Given the description of an element on the screen output the (x, y) to click on. 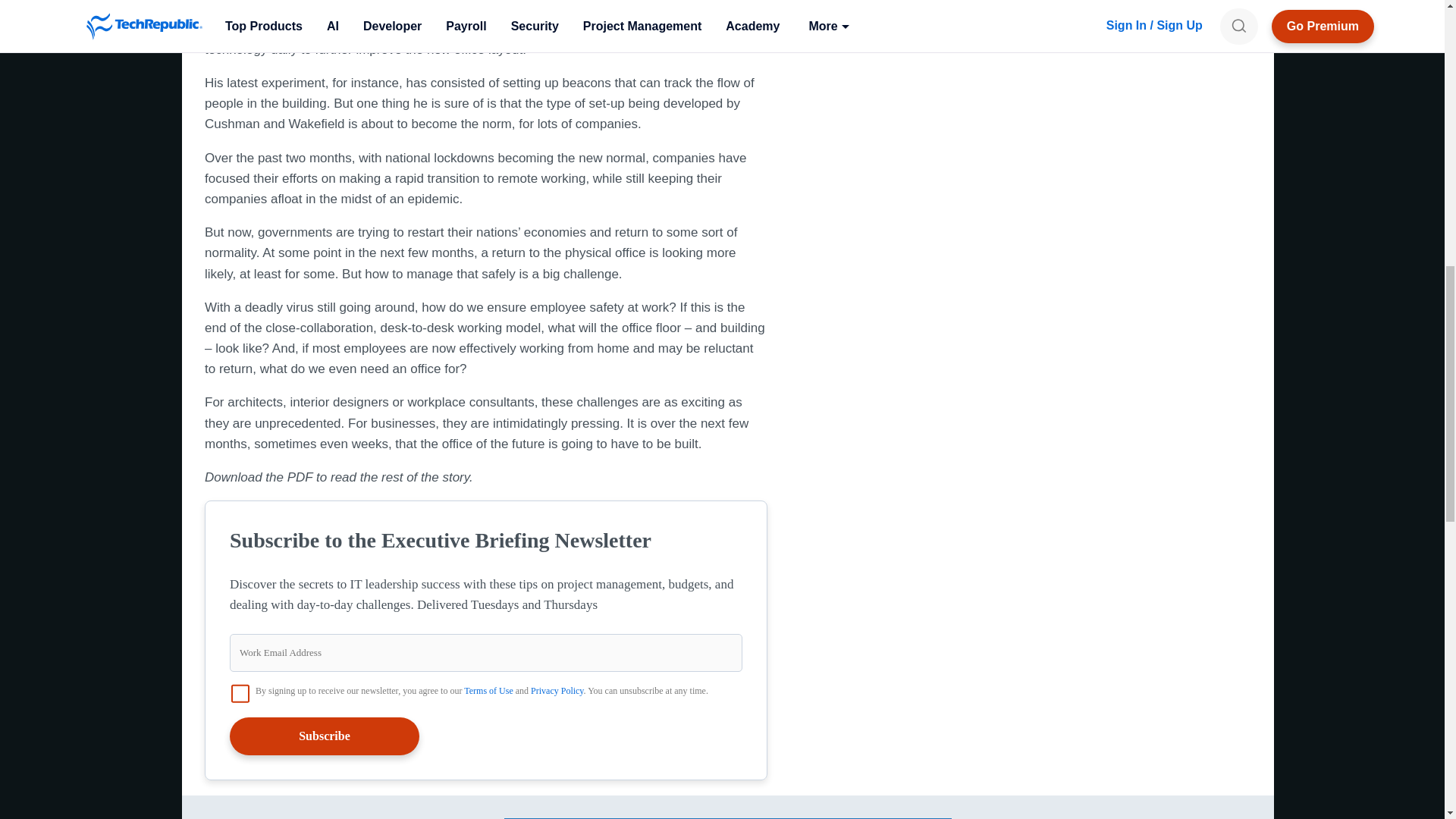
Terms of Use (488, 690)
Privacy Policy (557, 690)
on (239, 692)
Subscribe (324, 736)
